Given the description of an element on the screen output the (x, y) to click on. 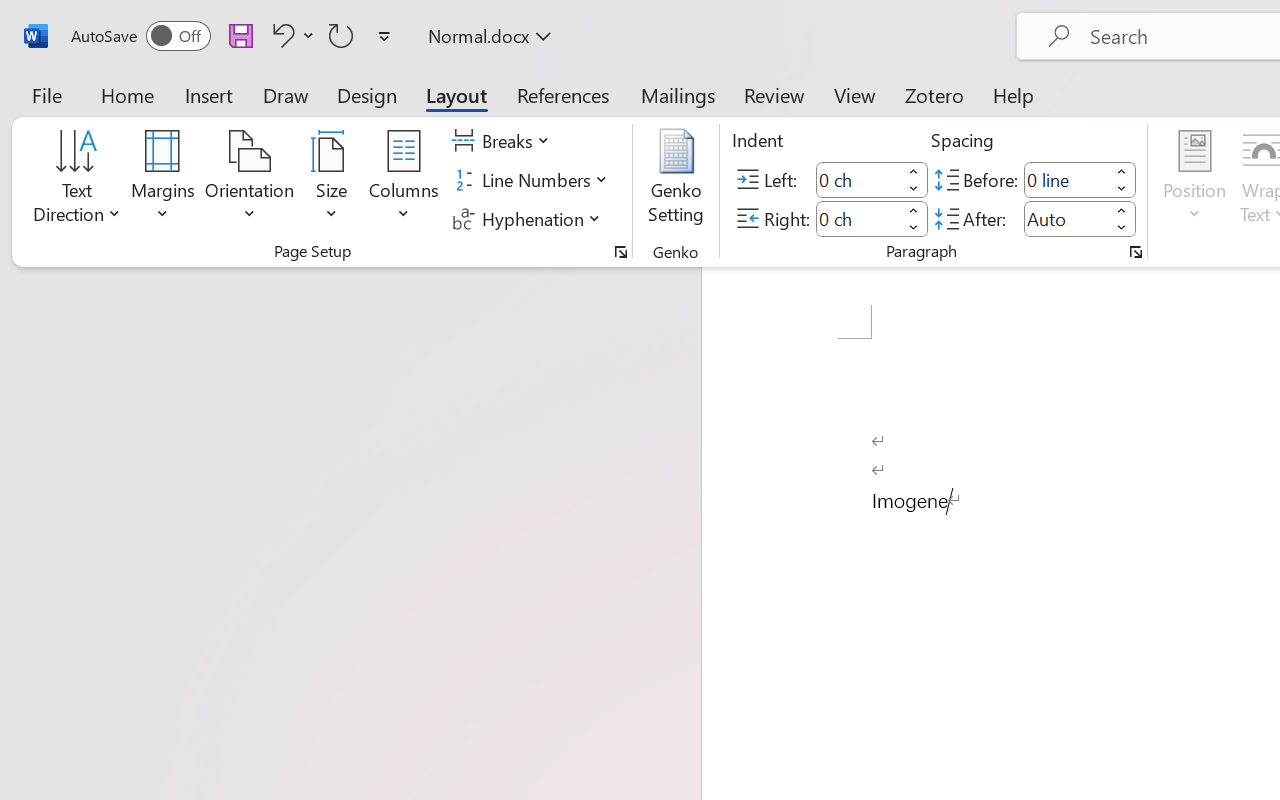
Spacing Before (1066, 179)
Hyphenation (529, 218)
Orientation (250, 179)
Undo Paragraph Formatting (280, 35)
